Given the description of an element on the screen output the (x, y) to click on. 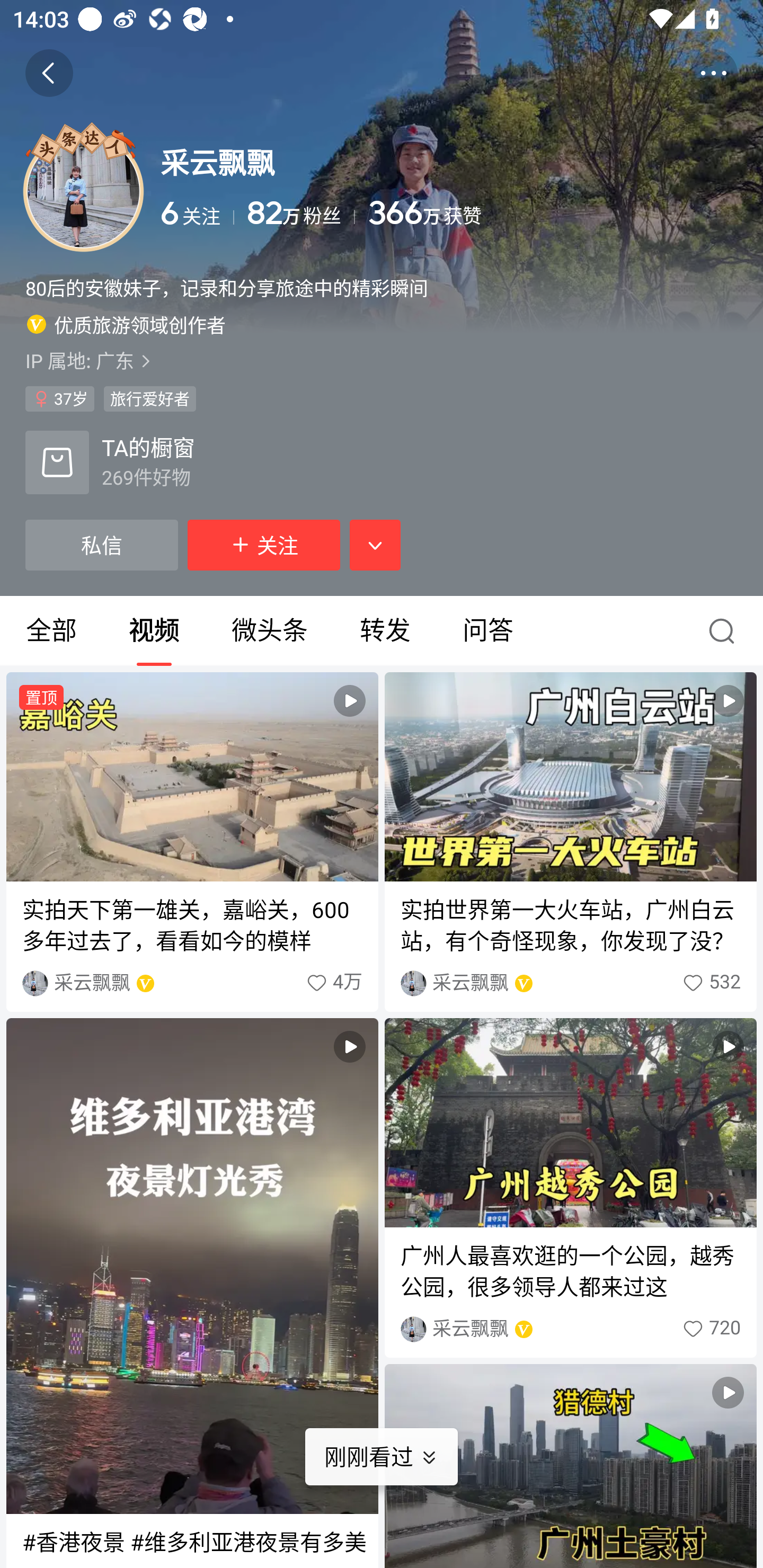
返回 (49, 72)
更多操作 (713, 72)
头像 (83, 191)
6 关注 (197, 213)
82万 粉丝 (300, 213)
366万 获赞 (552, 213)
优质旅游领域创作者 (125, 324)
IP 属地: 广东 (381, 360)
性别女，年龄37岁 37岁 (59, 397)
旅行爱好者 (149, 397)
它的橱窗, 269件好物, 按钮 TA的橱窗 269件好物 (110, 462)
私信 (101, 544)
     关注 (263, 544)
展开相关推荐，按钮 (374, 544)
全部 (51, 630)
视频 (154, 630)
微头条 (269, 630)
转发 (385, 630)
问答 (487, 630)
搜索 (726, 630)
视频 #香港夜景 #维多利亚港夜景有多美  (192, 1292)
视频 (570, 1466)
刚刚看过 (393, 1456)
